Given the description of an element on the screen output the (x, y) to click on. 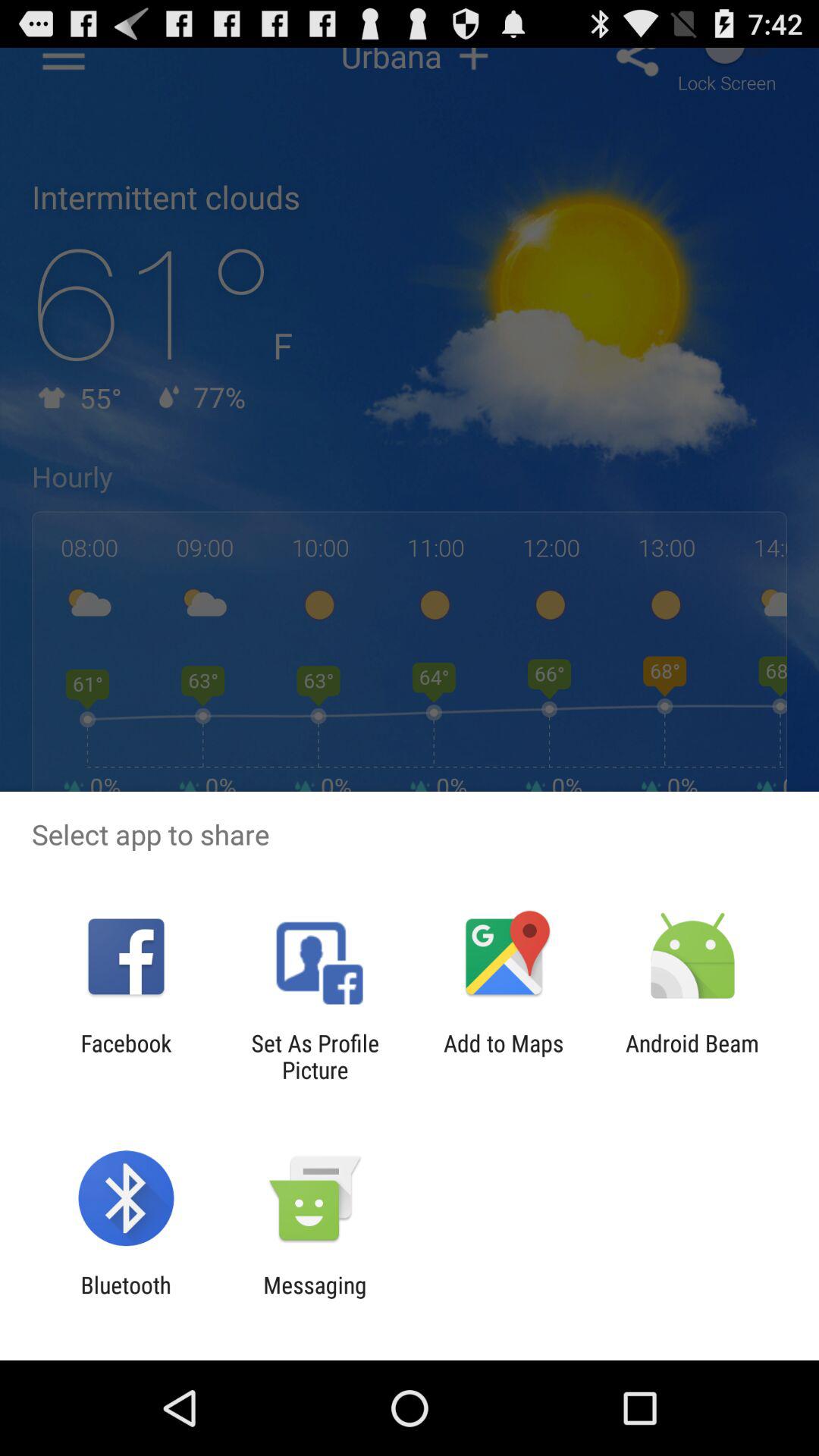
swipe to the facebook app (125, 1056)
